Given the description of an element on the screen output the (x, y) to click on. 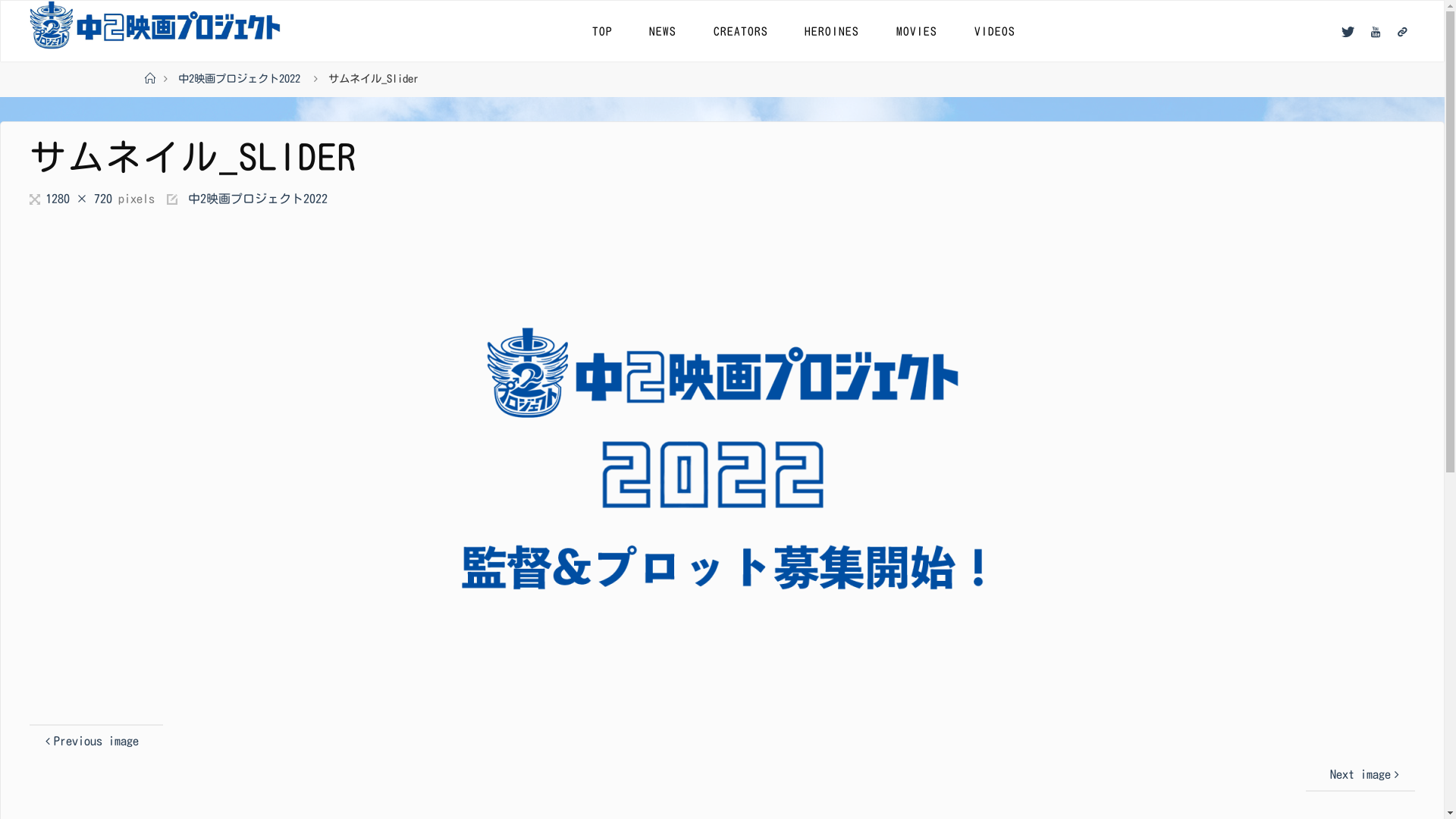
Linktree Element type: hover (1402, 31)
VIDEOS Element type: text (994, 30)
Full size Element type: hover (35, 198)
YouTube Element type: hover (1375, 31)
Published in Element type: hover (172, 198)
NEWS Element type: text (662, 30)
Twitter Element type: hover (1347, 31)
TOP Element type: text (601, 30)
CREATORS Element type: text (741, 30)
Next image Element type: text (1360, 774)
Home Element type: text (149, 78)
Previous image Element type: text (96, 741)
MOVIES Element type: text (917, 30)
HEROINES Element type: text (832, 30)
